Given the description of an element on the screen output the (x, y) to click on. 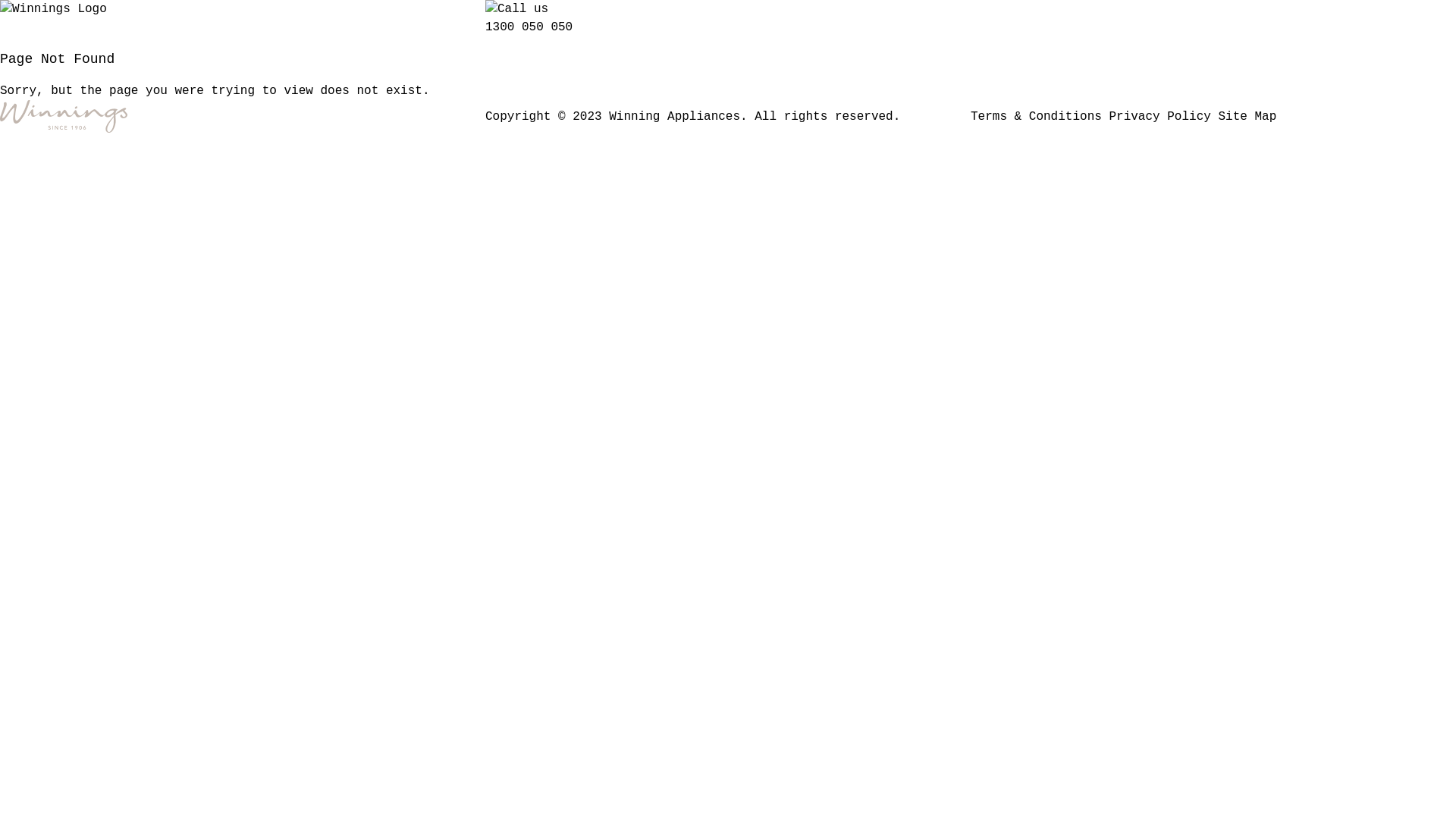
Site Map Element type: text (1246, 115)
Terms & Conditions Element type: text (1035, 115)
Privacy Policy Element type: text (1159, 115)
1300 050 050 Element type: text (528, 27)
